Given the description of an element on the screen output the (x, y) to click on. 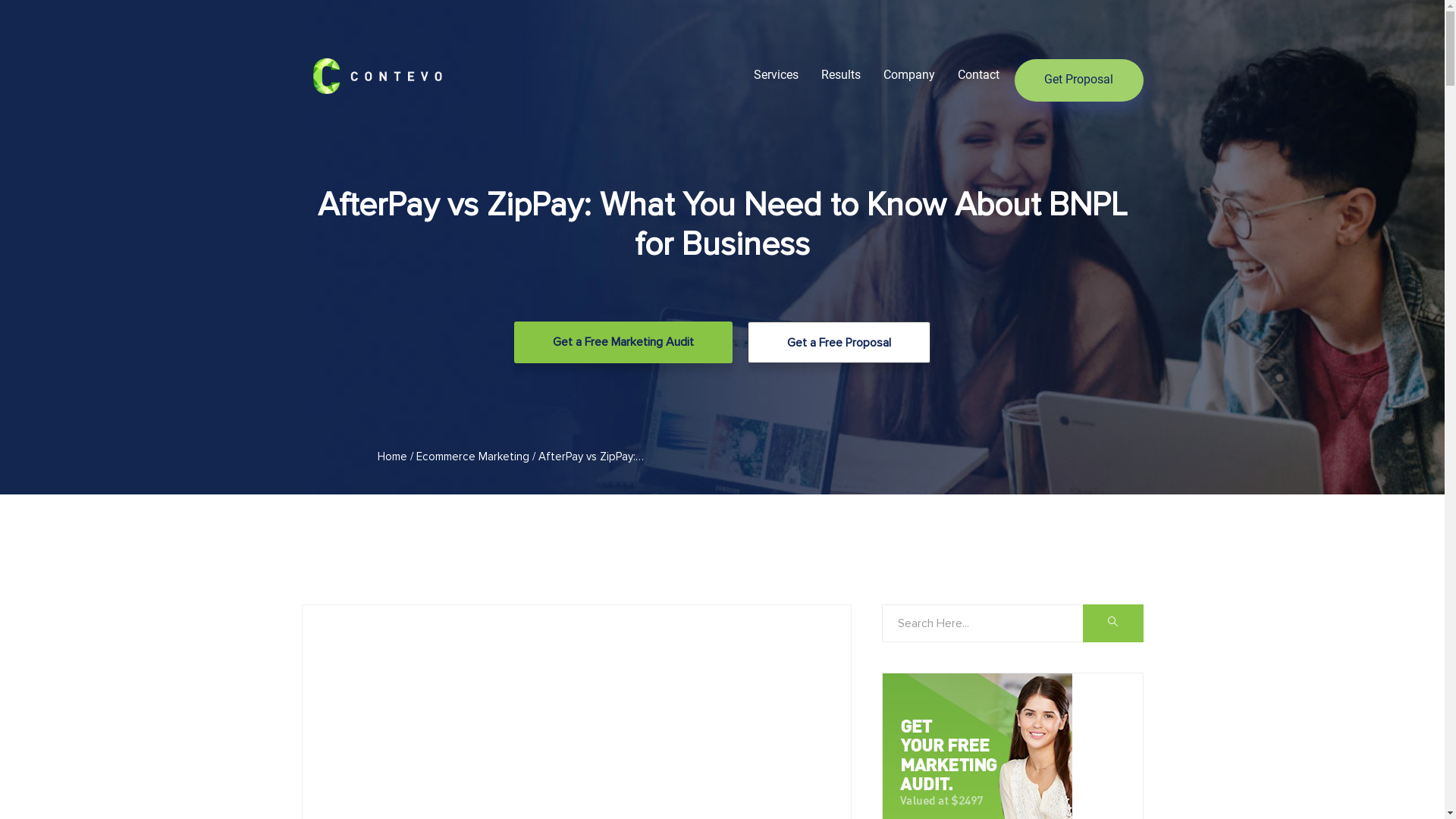
Results Element type: text (839, 74)
Company Element type: text (908, 74)
Get a Free Proposal Element type: text (838, 342)
Get Proposal Element type: text (1078, 80)
Home Element type: text (392, 456)
Get a Free Marketing Audit Element type: text (623, 342)
Contact Element type: text (977, 74)
Services Element type: text (775, 74)
